Given the description of an element on the screen output the (x, y) to click on. 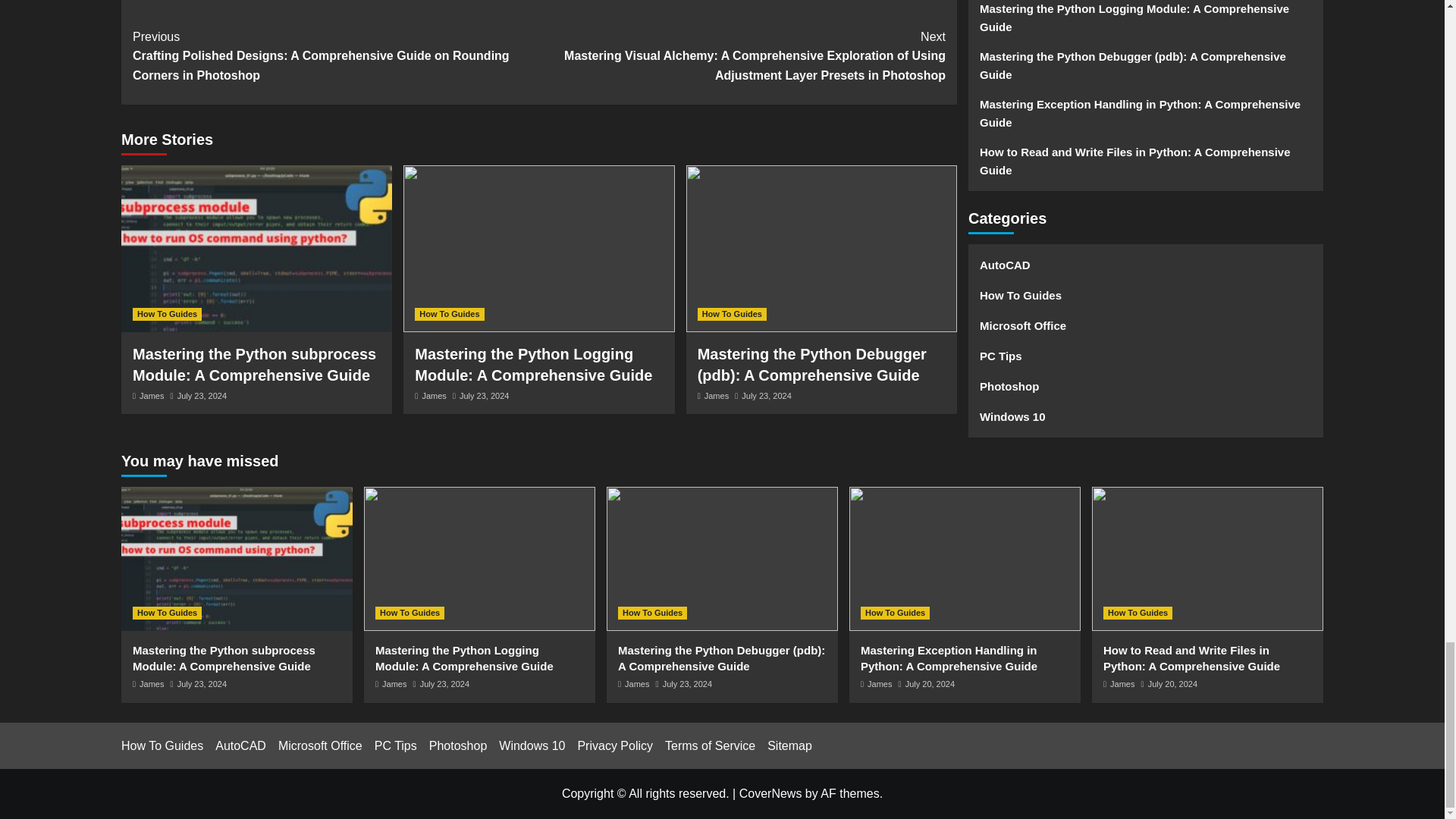
How To Guides (732, 314)
How To Guides (167, 314)
How To Guides (448, 314)
Mastering the Python Logging Module: A Comprehensive Guide (533, 364)
July 23, 2024 (484, 395)
James (716, 395)
July 23, 2024 (202, 395)
